Given the description of an element on the screen output the (x, y) to click on. 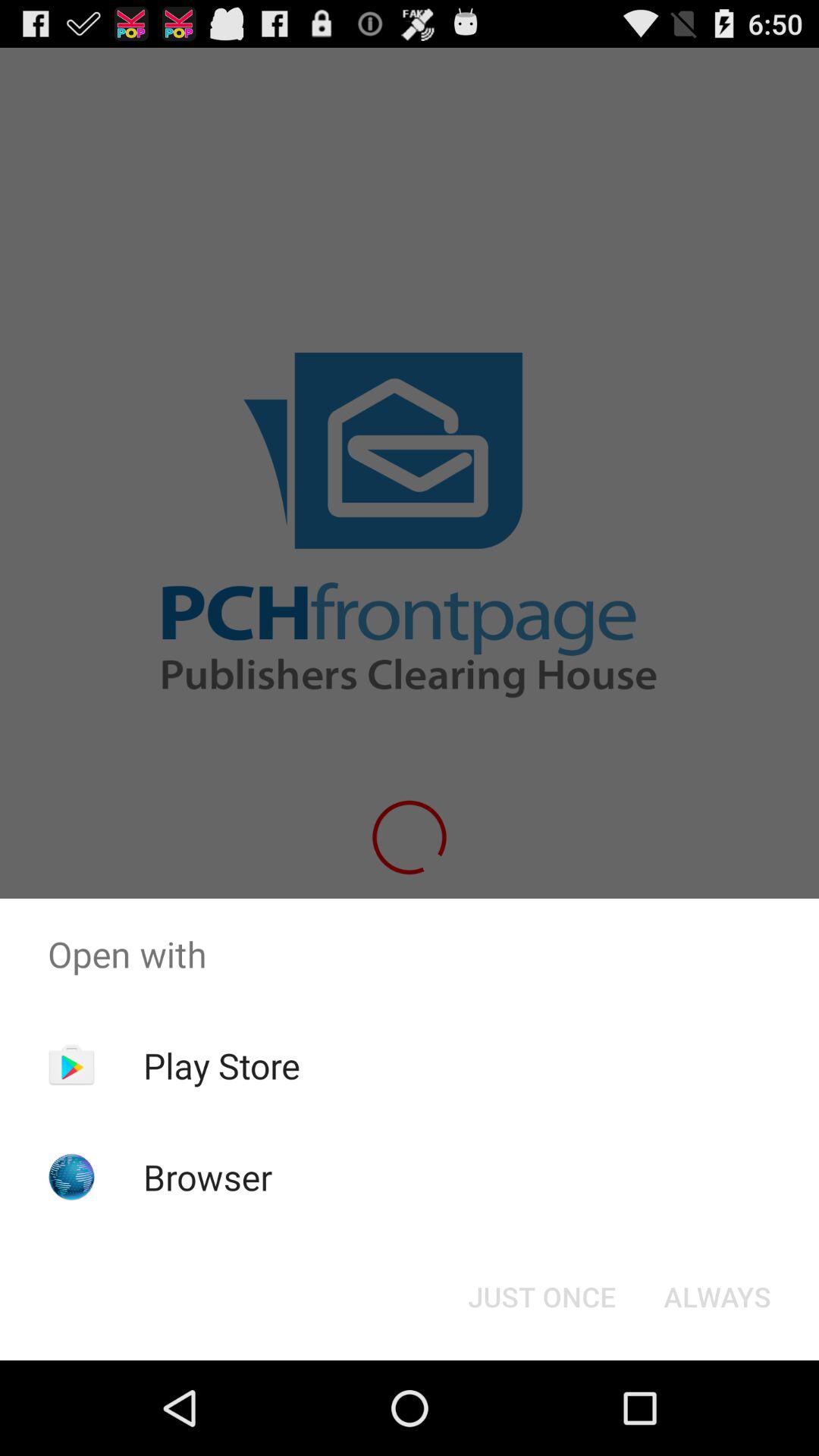
choose the app below open with (541, 1296)
